Given the description of an element on the screen output the (x, y) to click on. 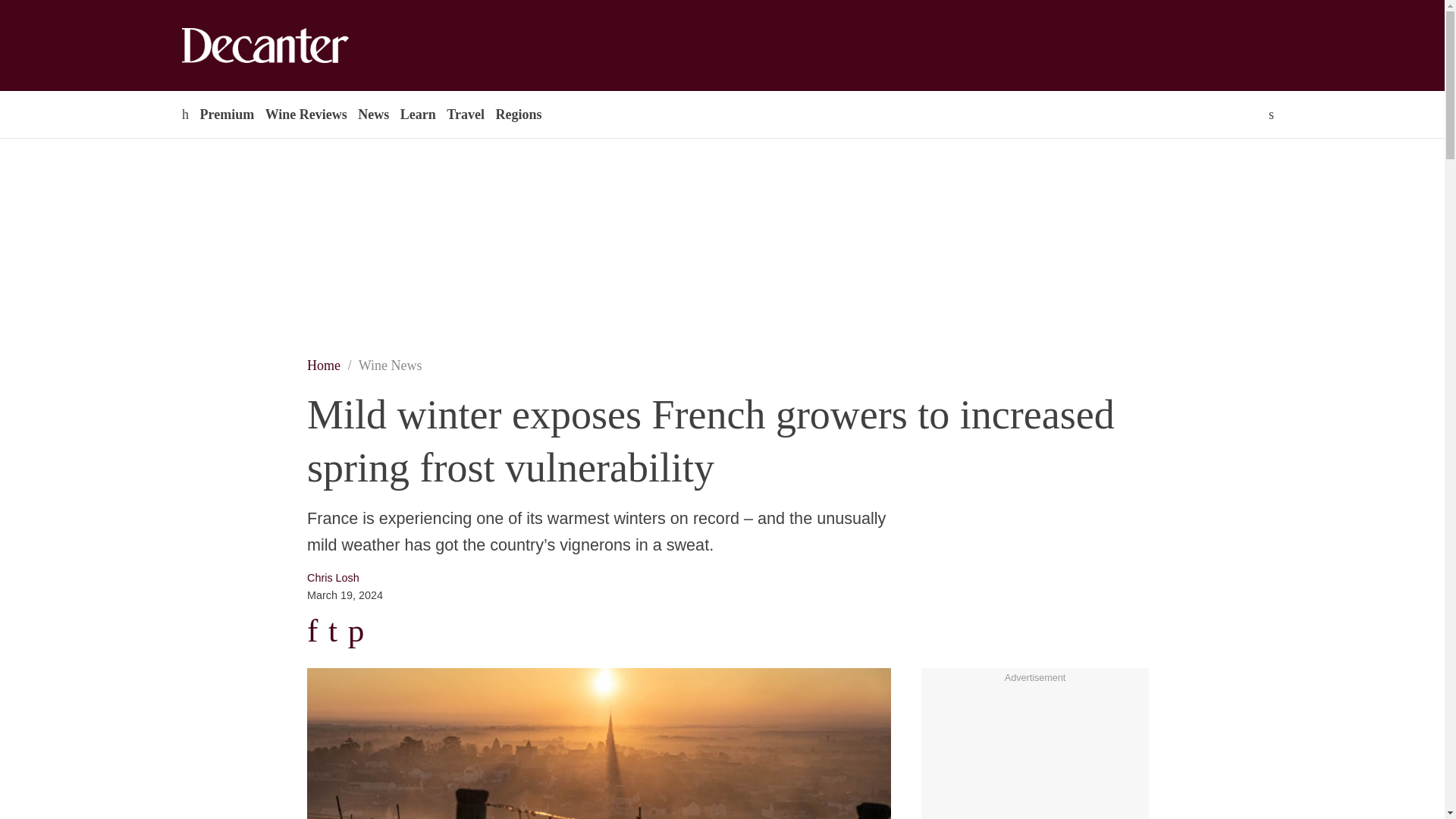
Wine Reviews (306, 114)
Travel (464, 114)
Decanter (297, 45)
Learn (417, 114)
Premium (226, 114)
